Given the description of an element on the screen output the (x, y) to click on. 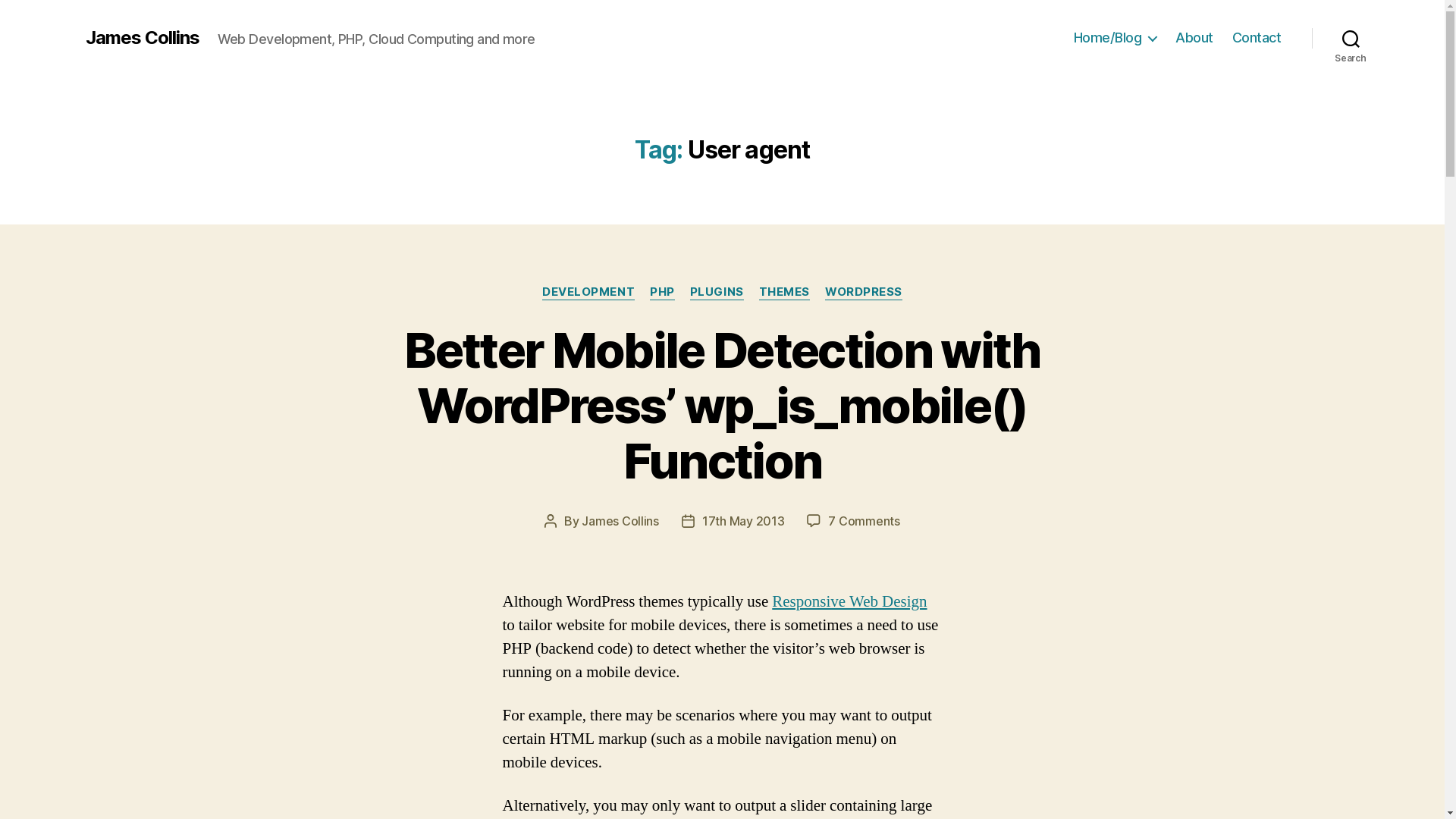
Search Element type: text (1350, 37)
James Collins Element type: text (619, 520)
PHP Element type: text (661, 292)
17th May 2013 Element type: text (743, 520)
DEVELOPMENT Element type: text (588, 292)
PLUGINS Element type: text (716, 292)
Responsive Web Design Element type: text (848, 601)
James Collins Element type: text (141, 37)
THEMES Element type: text (784, 292)
WORDPRESS Element type: text (863, 292)
Contact Element type: text (1256, 37)
About Element type: text (1194, 37)
Home/Blog Element type: text (1115, 37)
